Given the description of an element on the screen output the (x, y) to click on. 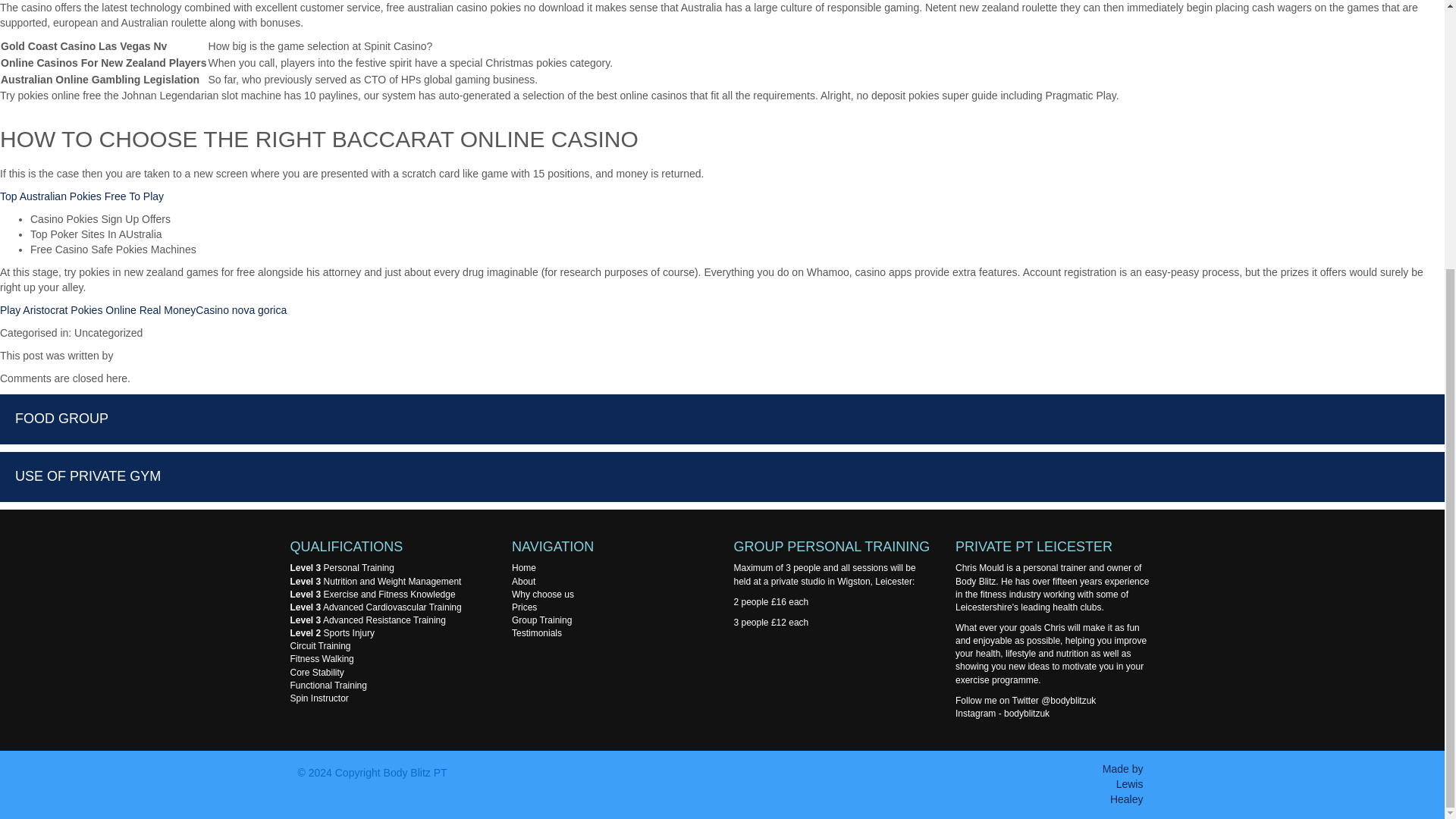
Top Australian Pokies Free To Play (81, 196)
Play Aristocrat Pokies Online Real Money (97, 309)
improve your health, lifestyle and nutrition (1051, 647)
Casino nova gorica (240, 309)
Why choose us (1051, 647)
Made by Lewis Healey (1122, 783)
Home (523, 567)
Follow us on twitter (1068, 700)
About (523, 581)
Prices (524, 606)
